Given the description of an element on the screen output the (x, y) to click on. 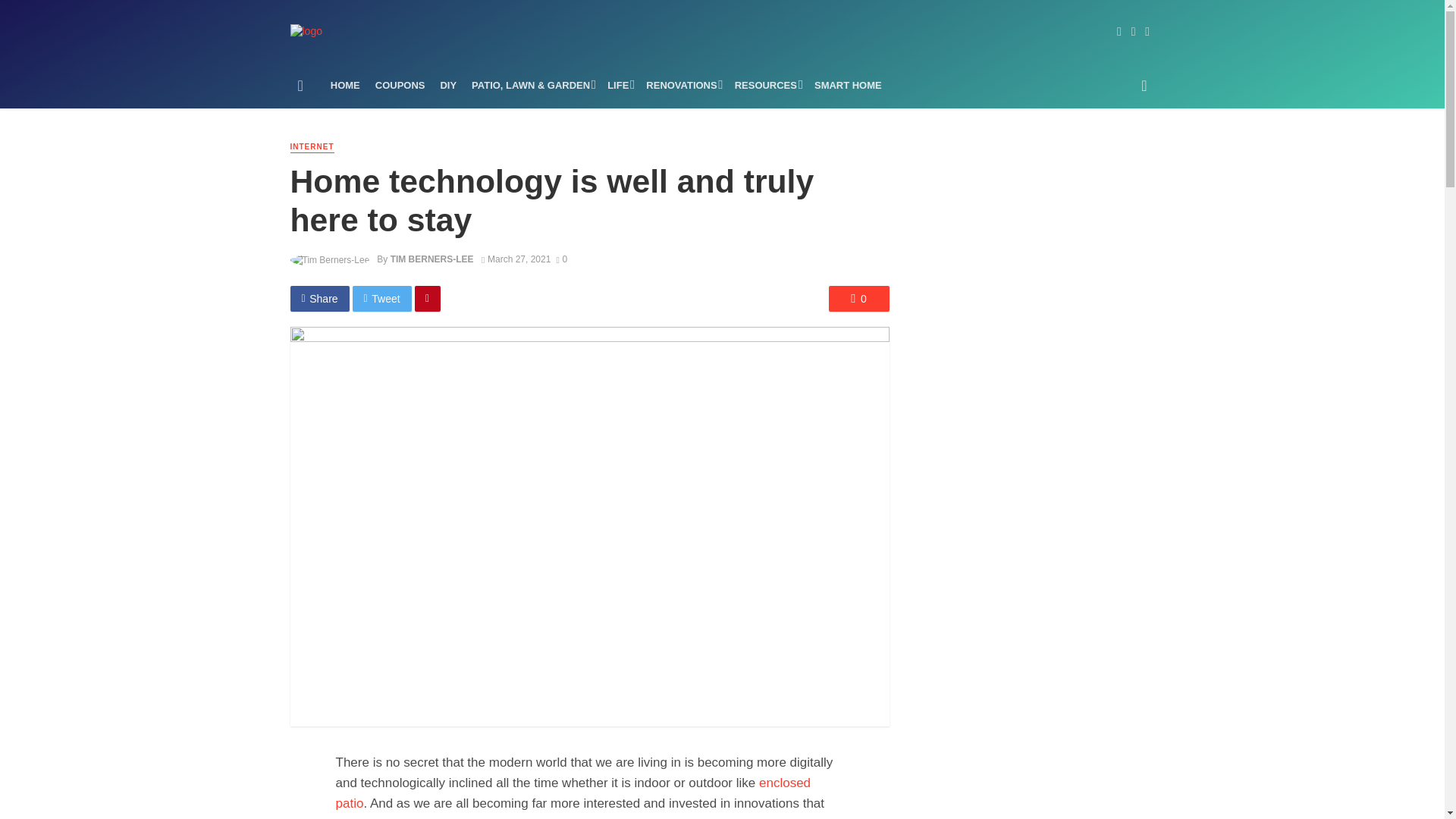
Share on Facebook (319, 298)
Share on Twitter (382, 298)
HOME (345, 85)
0 Comments (858, 298)
0 (561, 258)
enclosed patio (572, 792)
SMART HOME (847, 85)
RESOURCES (766, 85)
Share on Pinterest (427, 298)
March 27, 2021 at 8:21 am (515, 258)
